Given the description of an element on the screen output the (x, y) to click on. 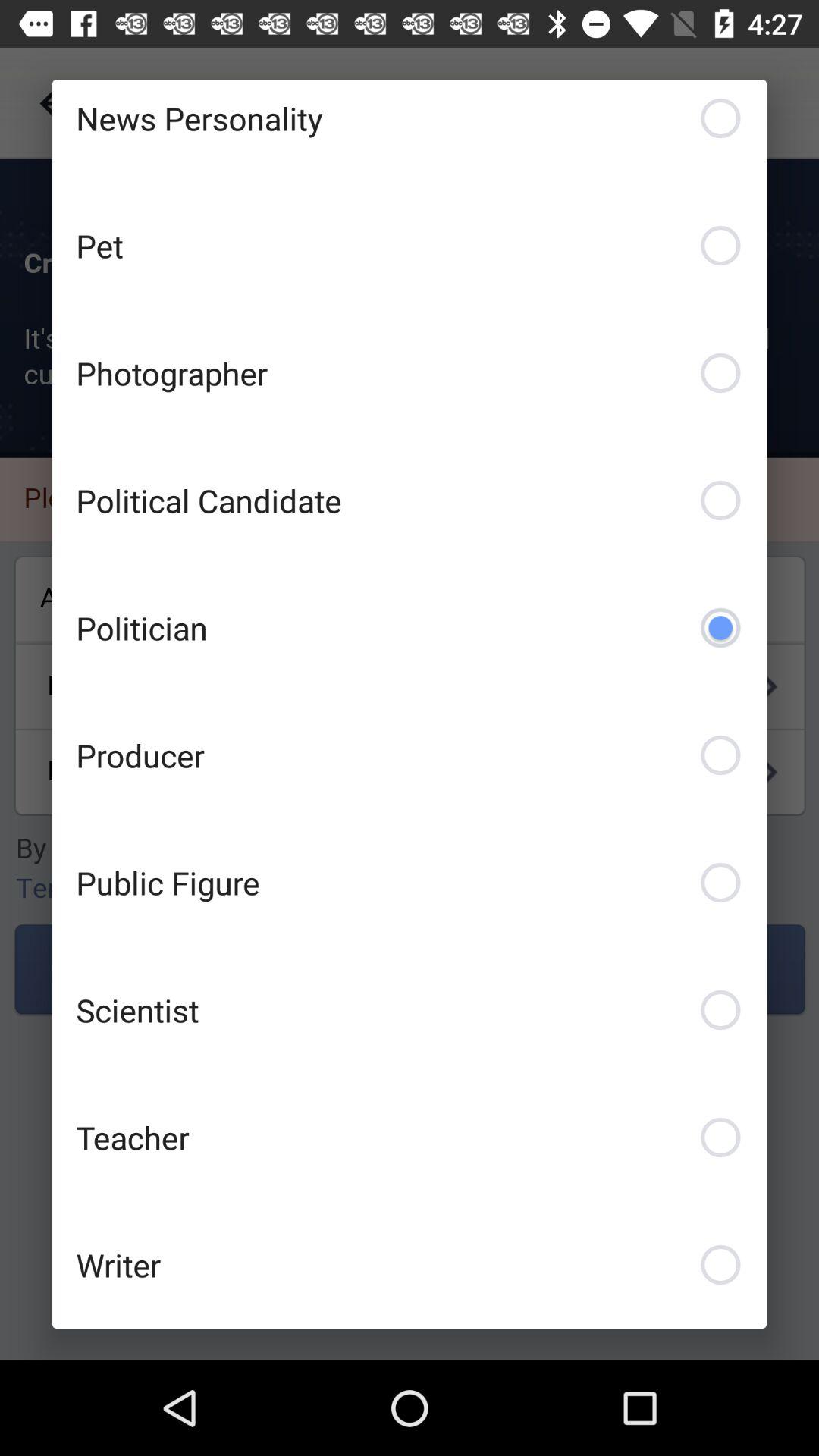
scroll to the teacher icon (409, 1137)
